Given the description of an element on the screen output the (x, y) to click on. 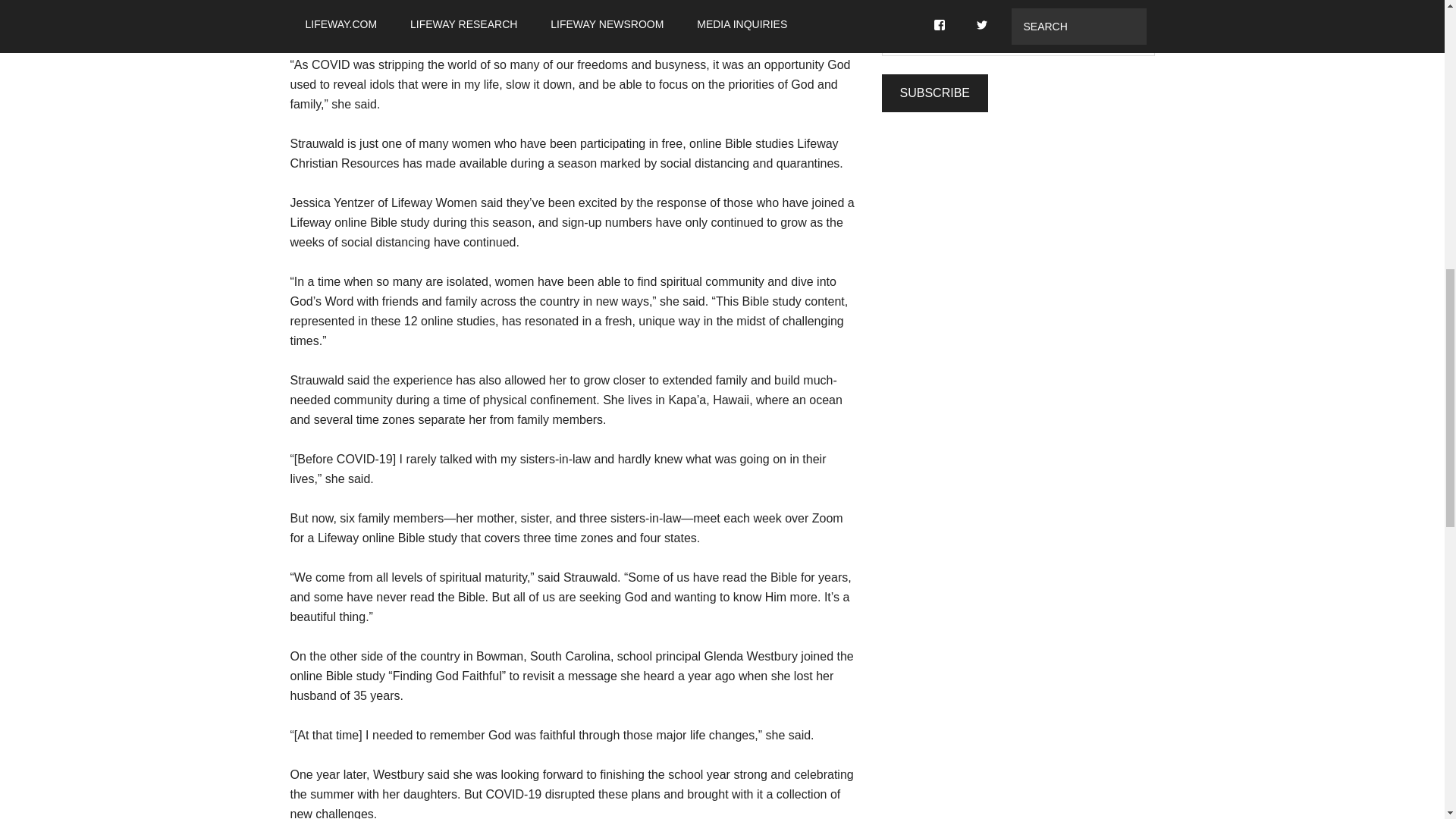
SUBSCRIBE (933, 93)
